Given the description of an element on the screen output the (x, y) to click on. 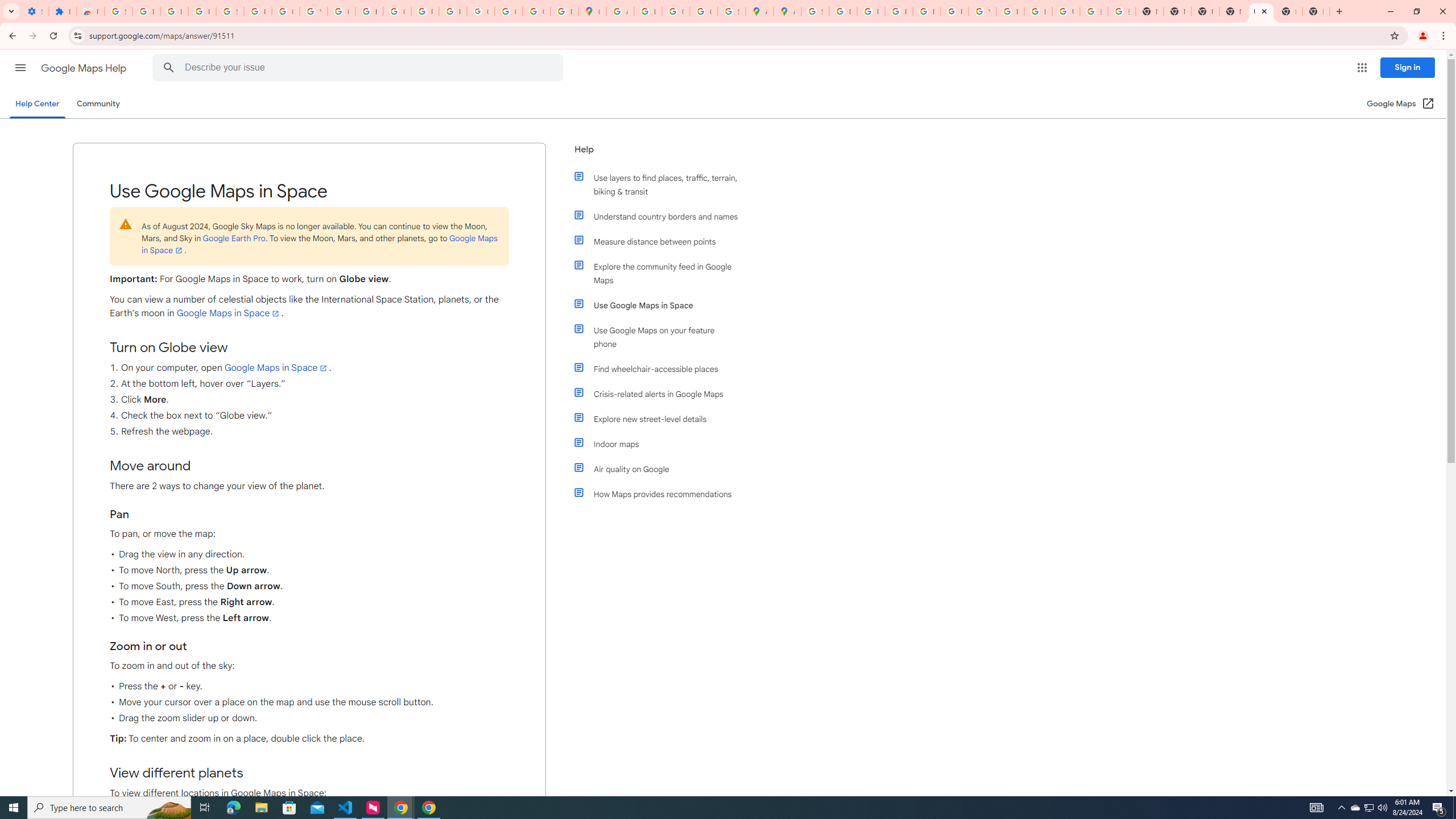
Google Maps in Space (276, 367)
Search Help Center (168, 67)
Use Google Maps in Space (661, 305)
Reviews: Helix Fruit Jump Arcade Game (90, 11)
Safety in Our Products - Google Safety Center (731, 11)
Indoor maps (661, 444)
